Given the description of an element on the screen output the (x, y) to click on. 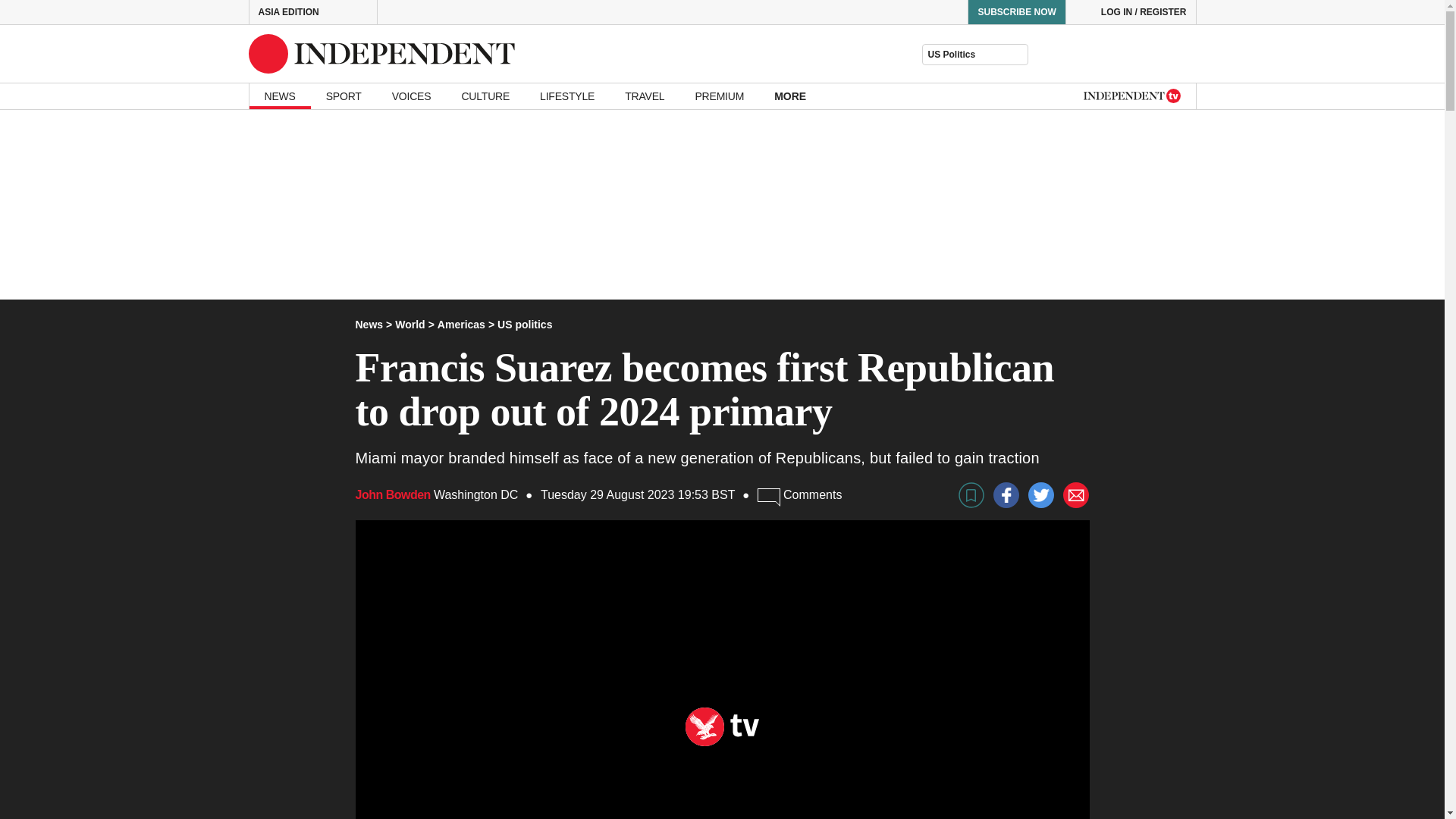
Independent (381, 53)
bookmark (971, 494)
NEWS (279, 95)
SUBSCRIBE NOW (1016, 12)
VOICES (411, 95)
SPORT (344, 95)
US Politics (974, 54)
